Given the description of an element on the screen output the (x, y) to click on. 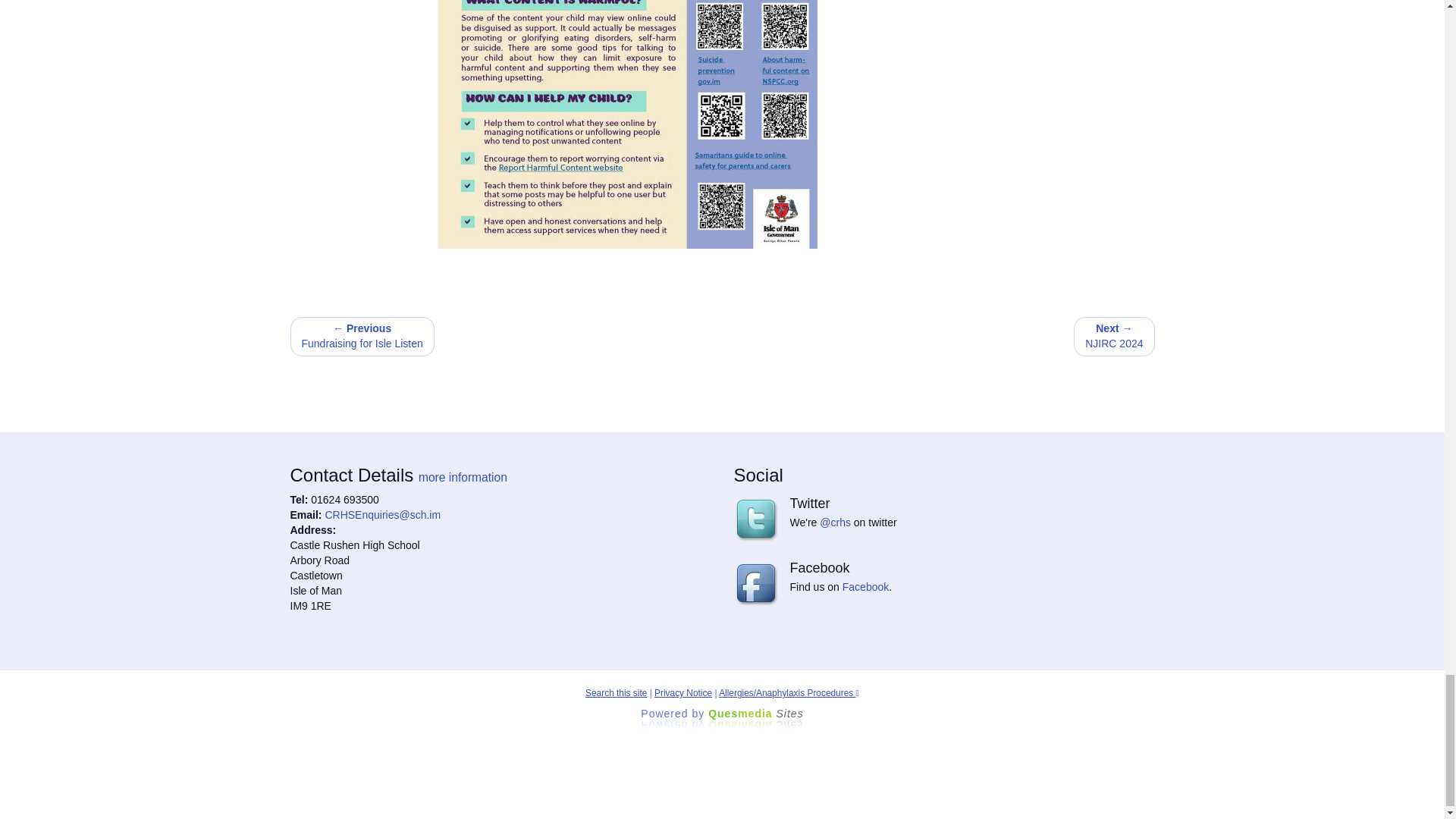
NJIRC 2024 (1114, 336)
View our Privacy Notice (682, 692)
Fundraising for Isle Listen (361, 336)
Can't find what you're looking for, try a search (615, 692)
